Given the description of an element on the screen output the (x, y) to click on. 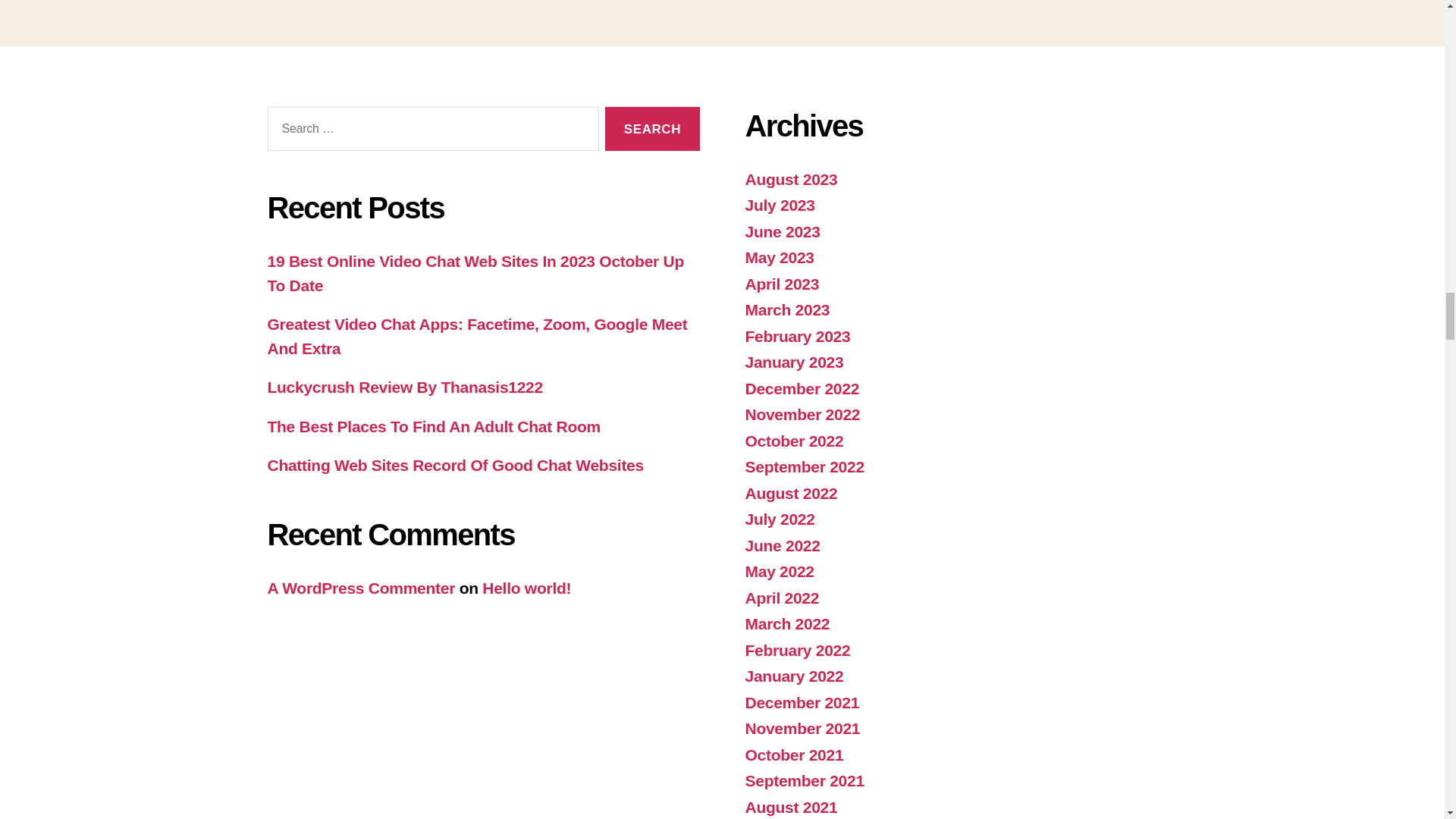
June 2023 (781, 231)
Search (651, 129)
Luckycrush Review By Thanasis1222 (403, 386)
October 2022 (793, 440)
Chatting Web Sites Record Of Good Chat Websites (454, 465)
August 2022 (790, 493)
December 2022 (801, 388)
August 2023 (790, 179)
July 2023 (778, 204)
March 2023 (786, 309)
